Given the description of an element on the screen output the (x, y) to click on. 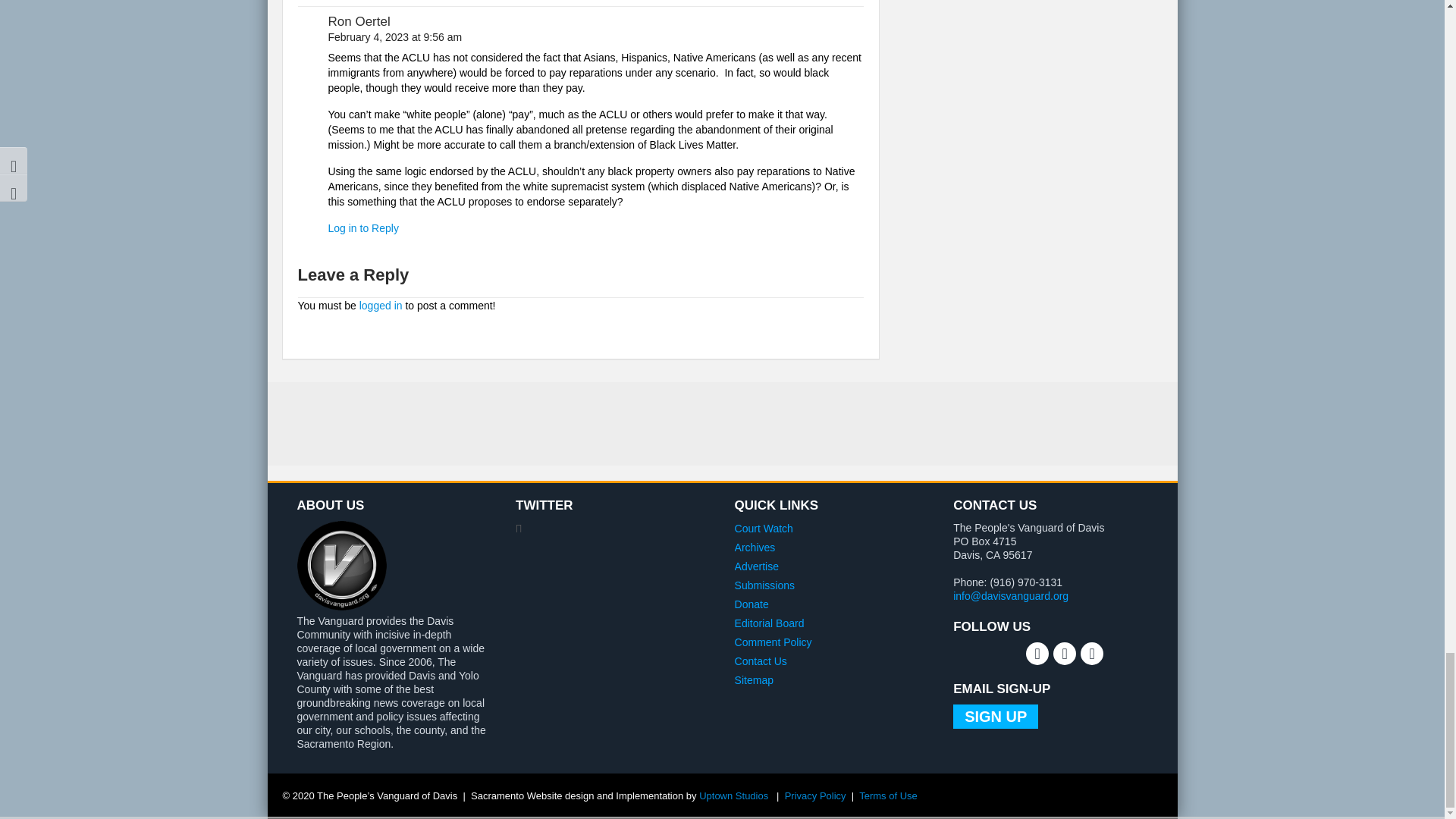
California (992, 554)
